Given the description of an element on the screen output the (x, y) to click on. 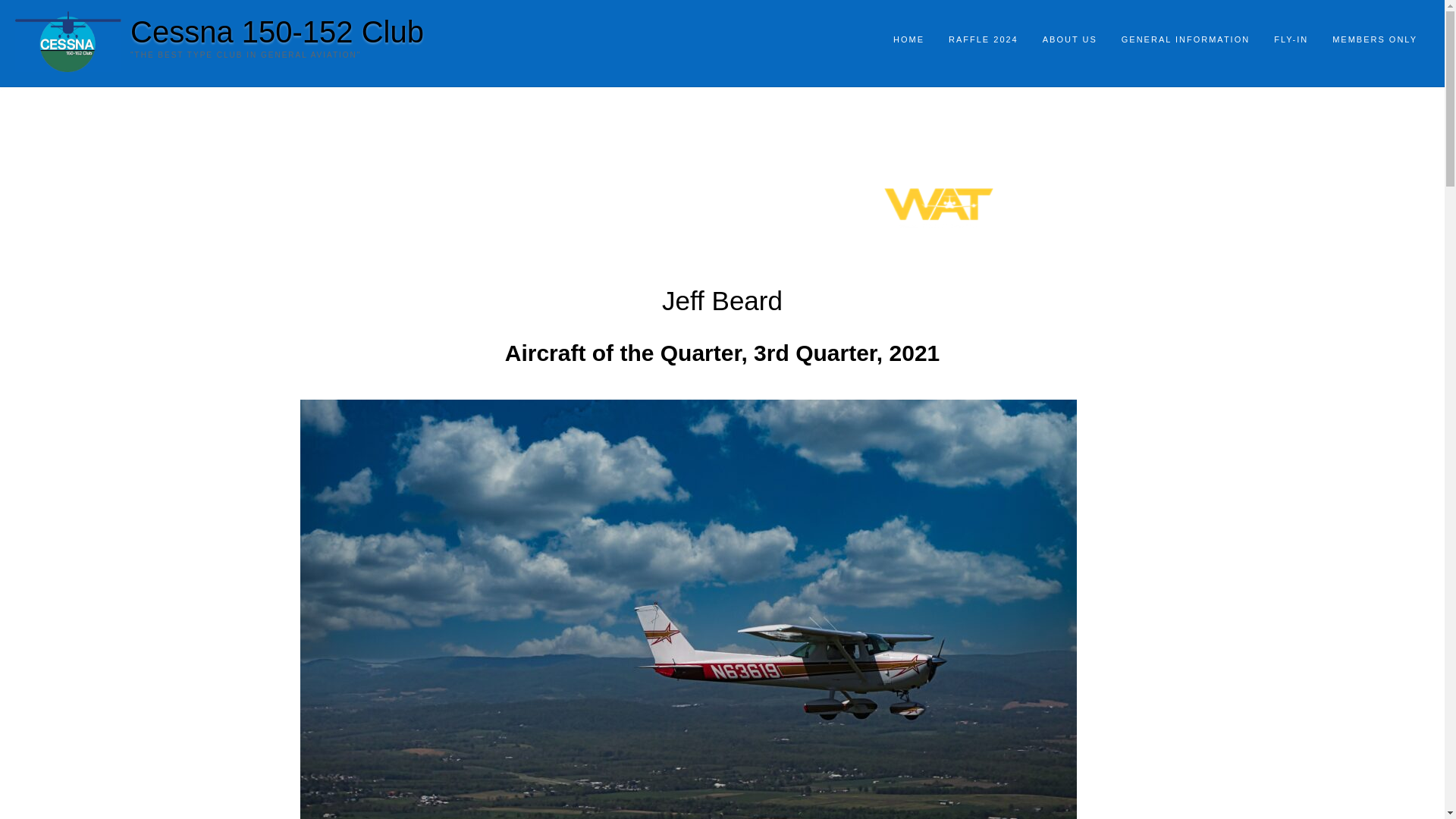
Cessna 150-152 Club (277, 31)
RAFFLE 2024 (983, 40)
Cessna 150-152 Club (277, 31)
ABOUT US (1069, 40)
GENERAL INFORMATION (1185, 40)
